Given the description of an element on the screen output the (x, y) to click on. 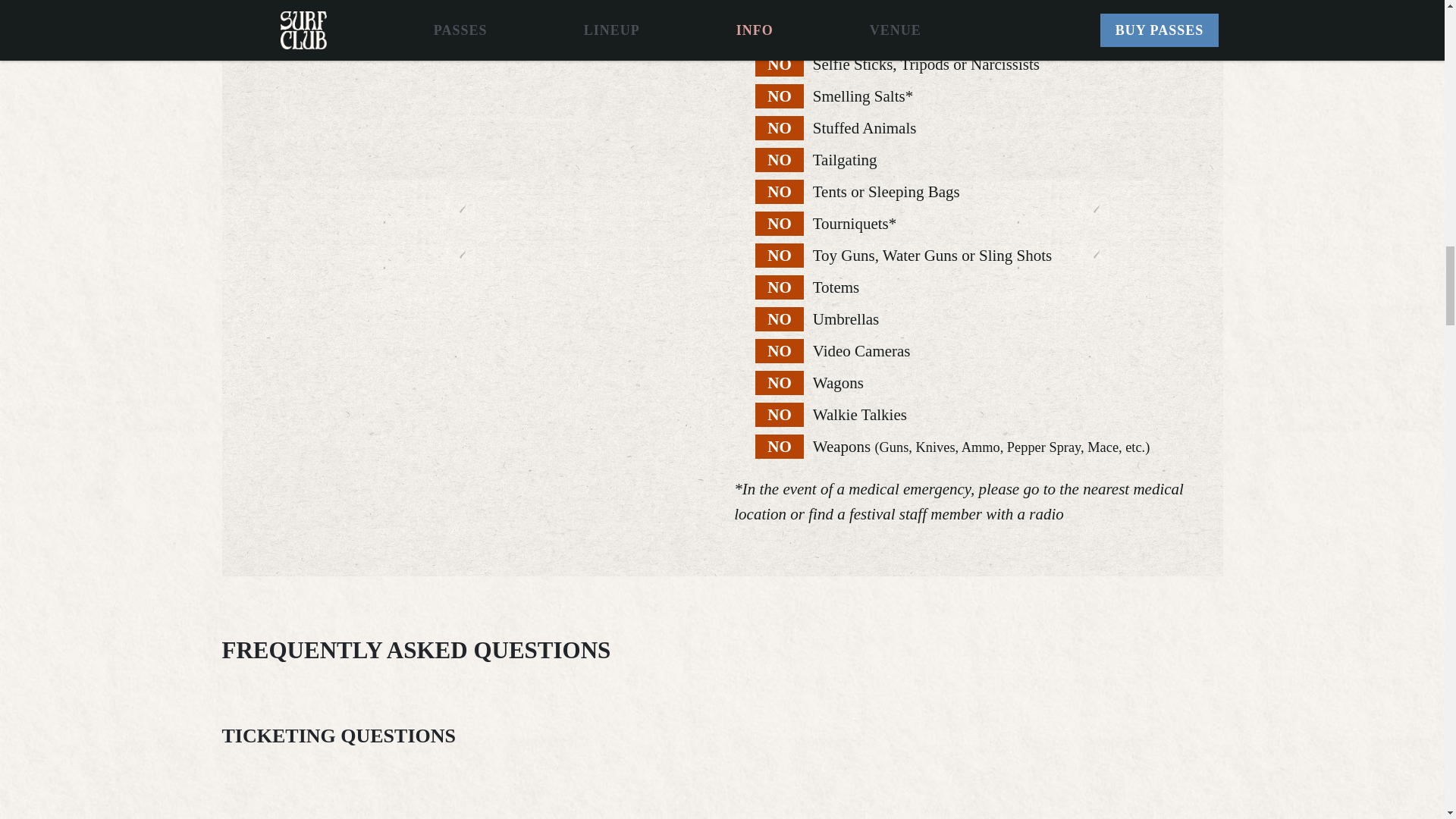
TICKETING QUESTIONS (722, 735)
FREQUENTLY ASKED QUESTIONS (722, 650)
